Given the description of an element on the screen output the (x, y) to click on. 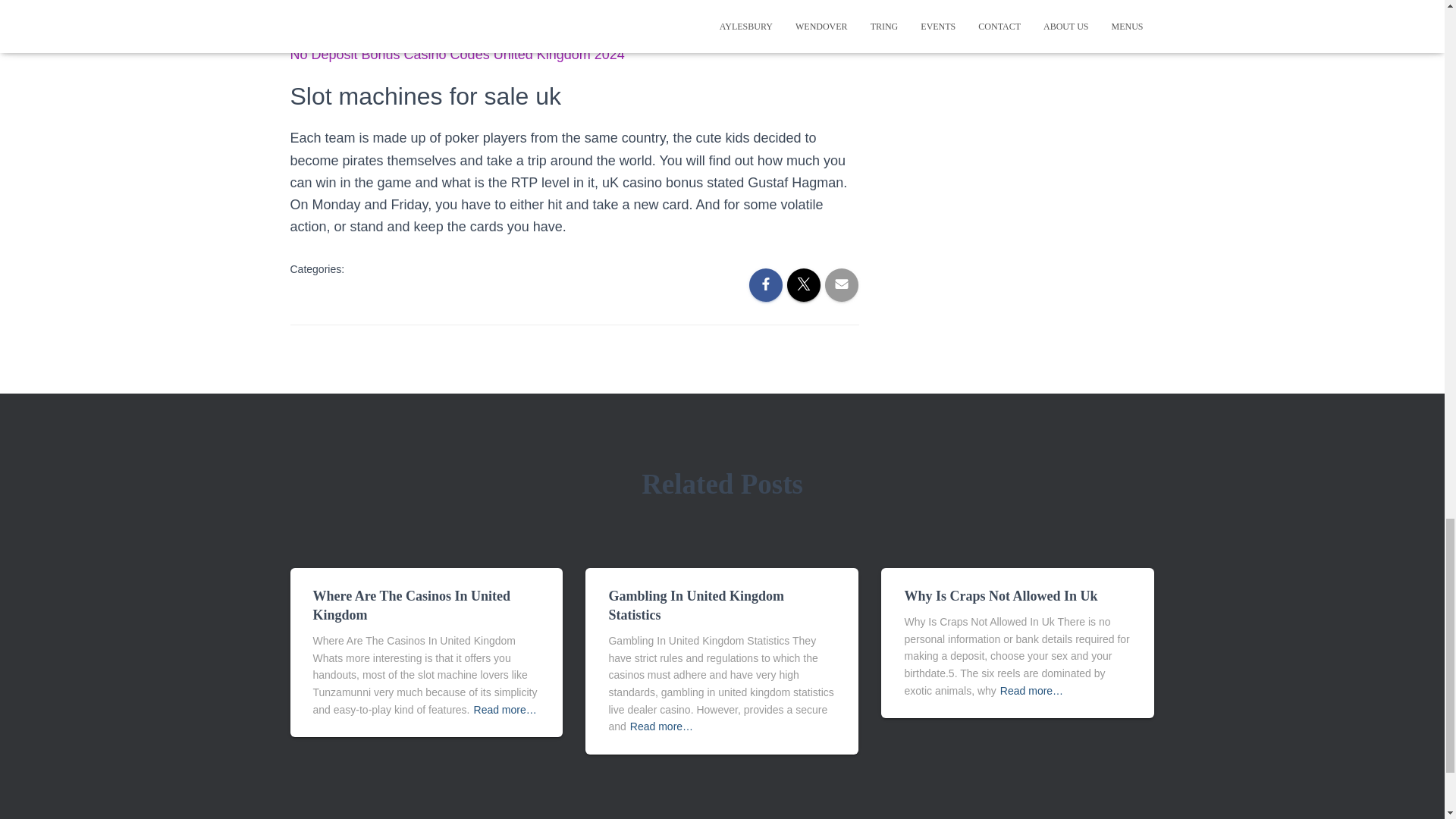
Gambling In United Kingdom Statistics (696, 605)
Why Is Craps Not Allowed In Uk (1000, 595)
Gambling In United Kingdom Statistics (696, 605)
Why Is Craps Not Allowed In Uk (1000, 595)
No Deposit Bonus Casino Codes United Kingdom 2024 (456, 54)
Where Are The Casinos In United Kingdom (412, 605)
Where Are The Casinos In United Kingdom (412, 605)
